Given the description of an element on the screen output the (x, y) to click on. 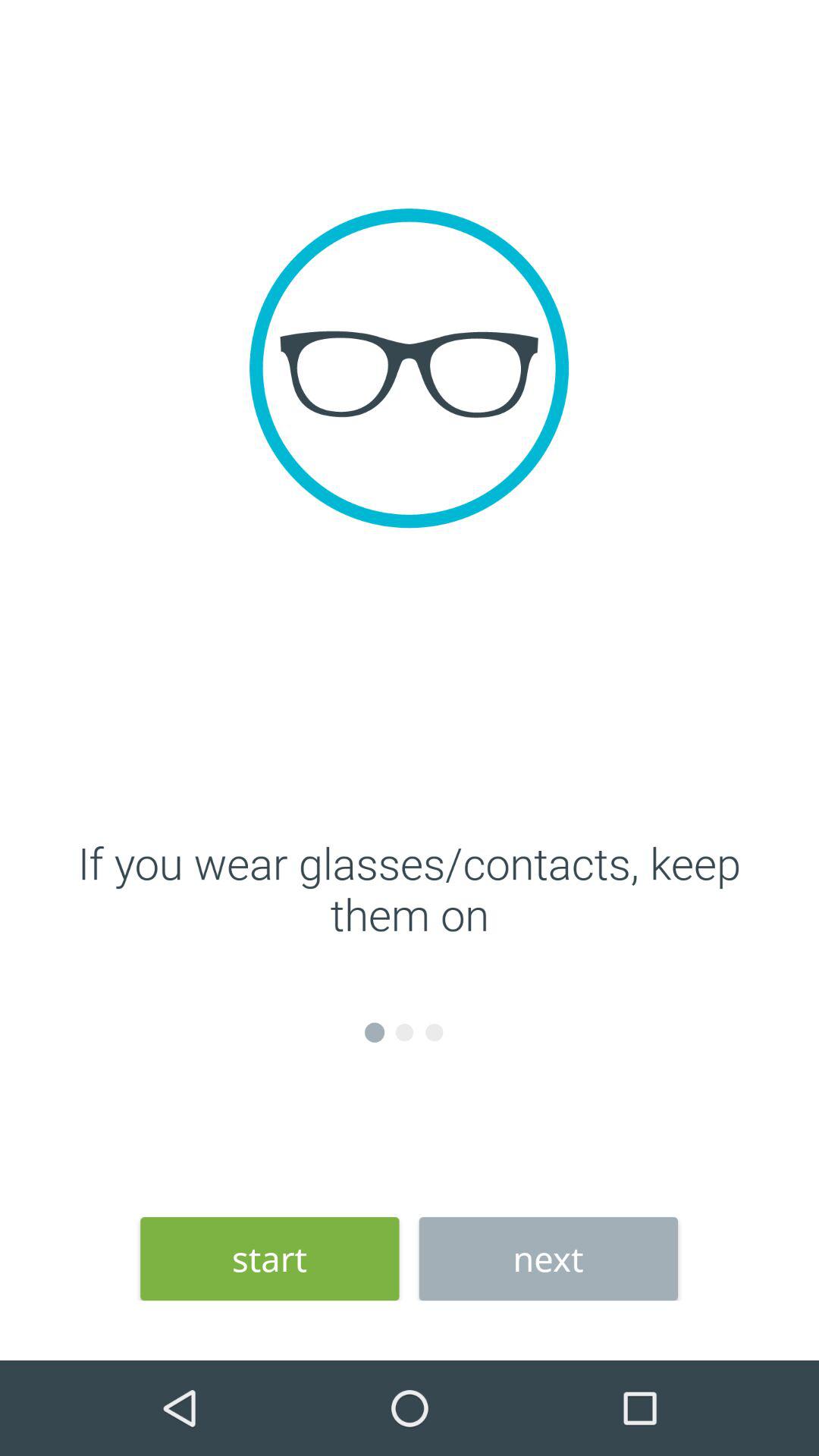
open icon to the left of next (269, 1258)
